Given the description of an element on the screen output the (x, y) to click on. 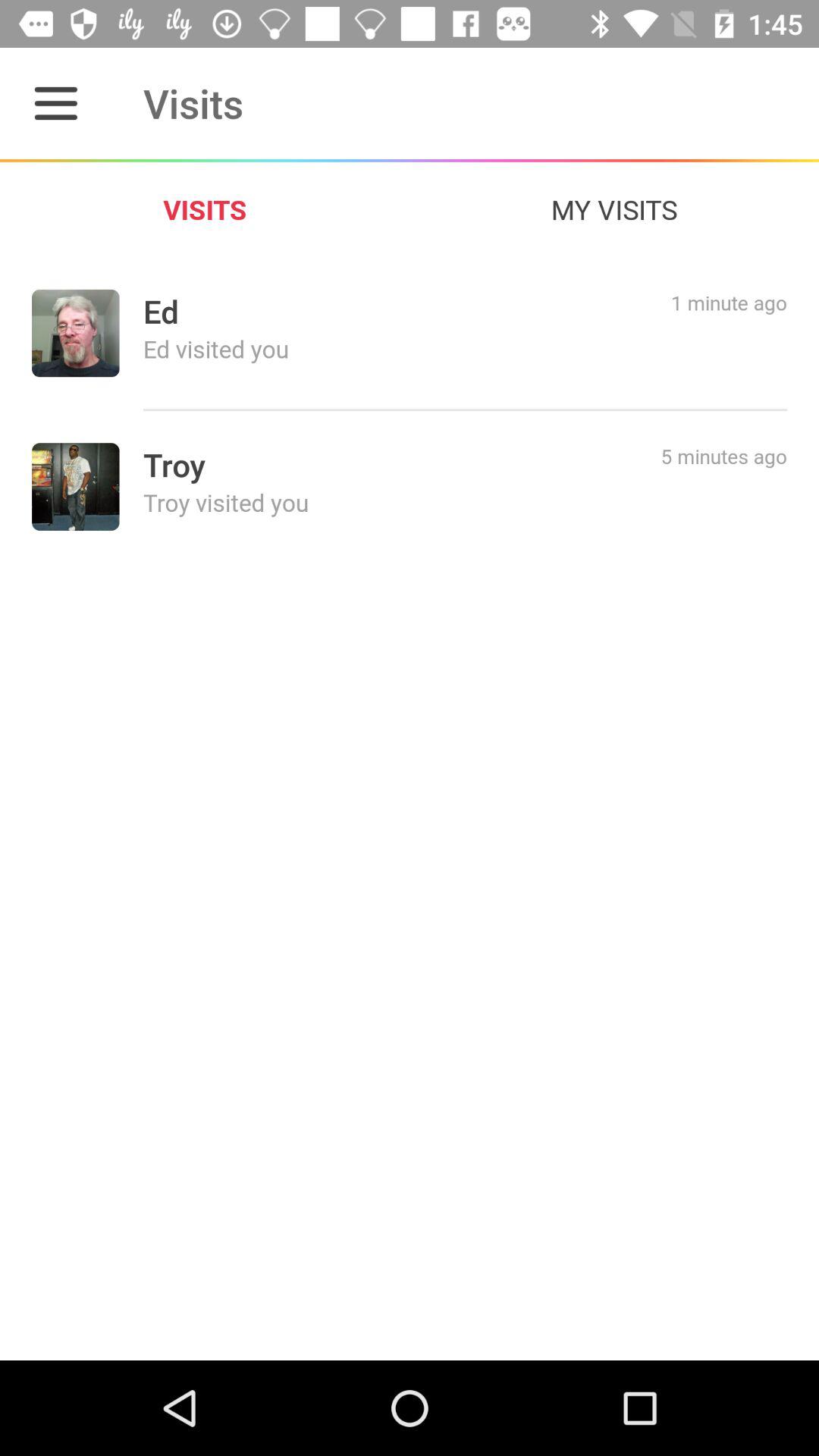
choose item next to the visits icon (614, 209)
